Given the description of an element on the screen output the (x, y) to click on. 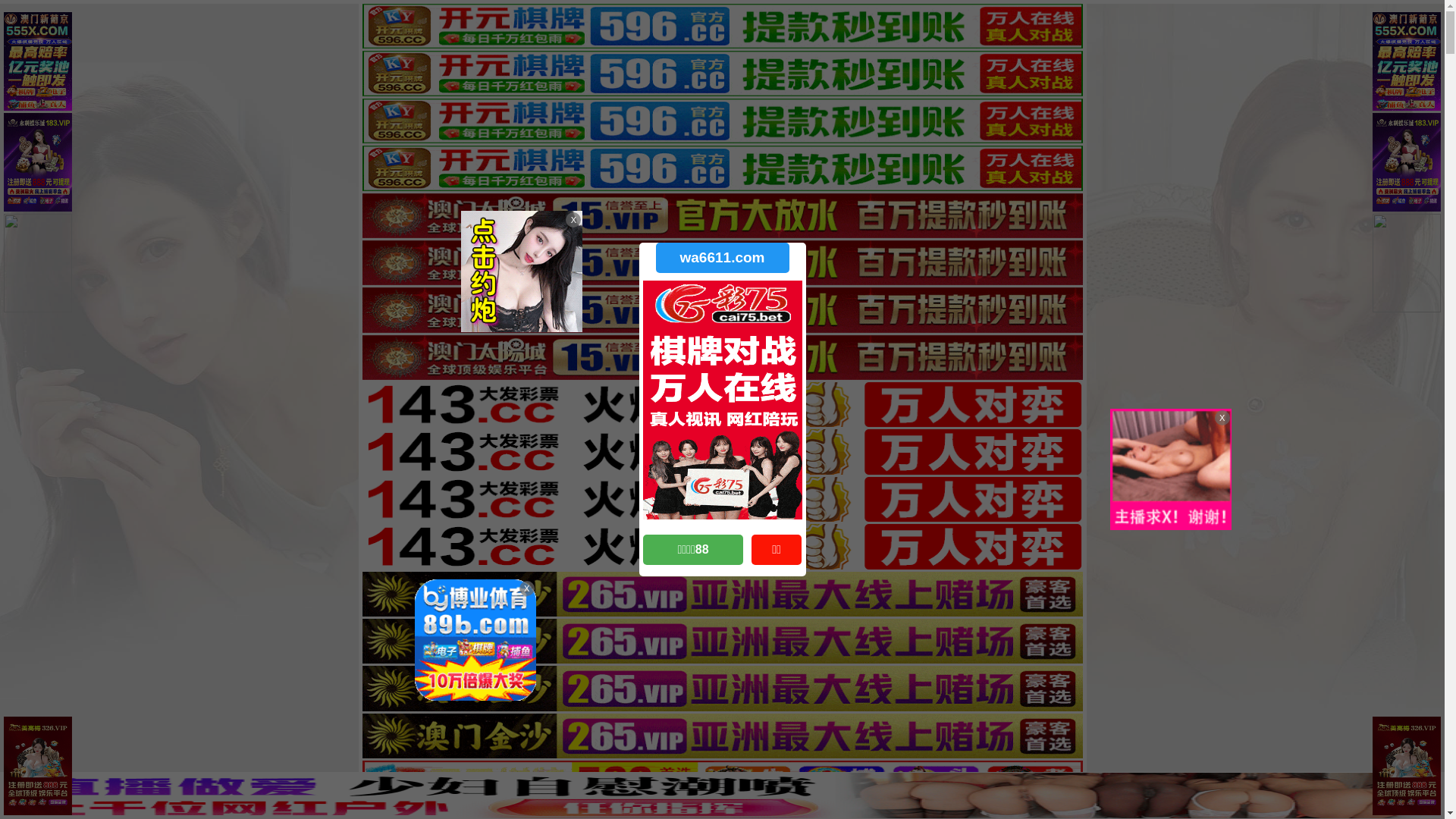
X Element type: text (1430, 789)
wa6611.com Element type: text (721, 257)
